Given the description of an element on the screen output the (x, y) to click on. 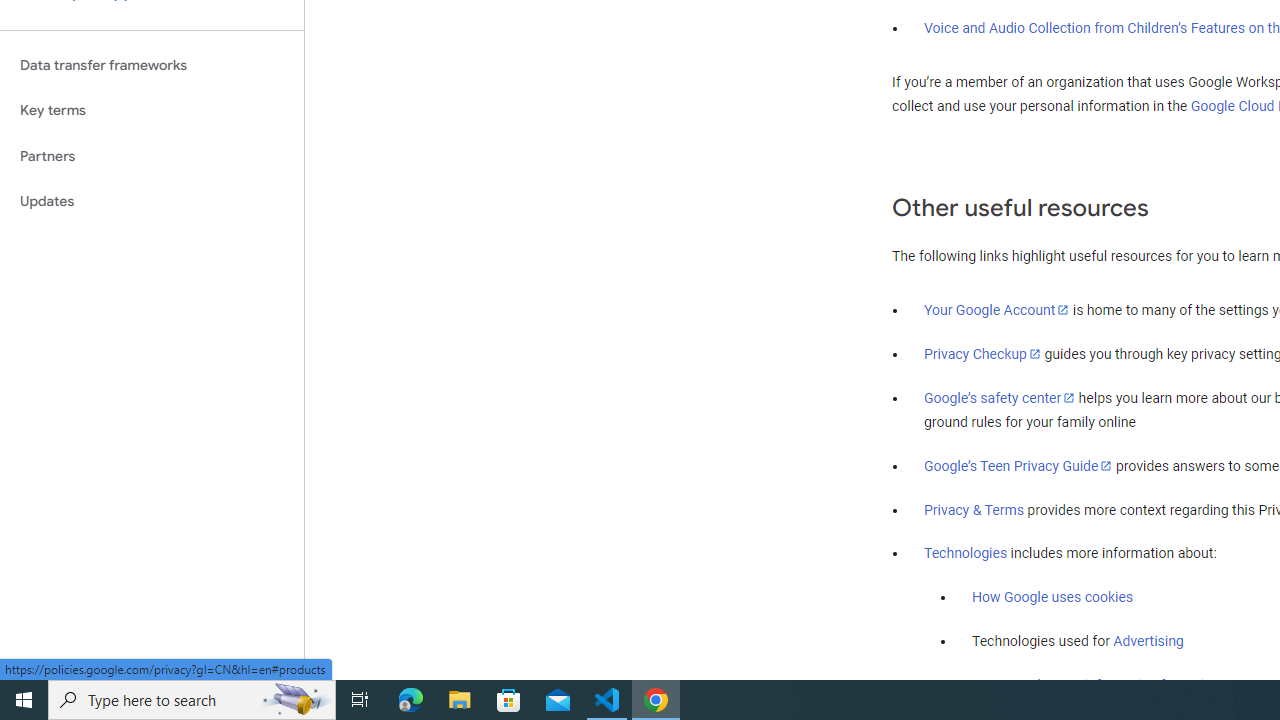
Privacy Checkup (982, 353)
Advertising (1148, 641)
How Google uses cookies (1052, 597)
Your Google Account (997, 309)
